Given the description of an element on the screen output the (x, y) to click on. 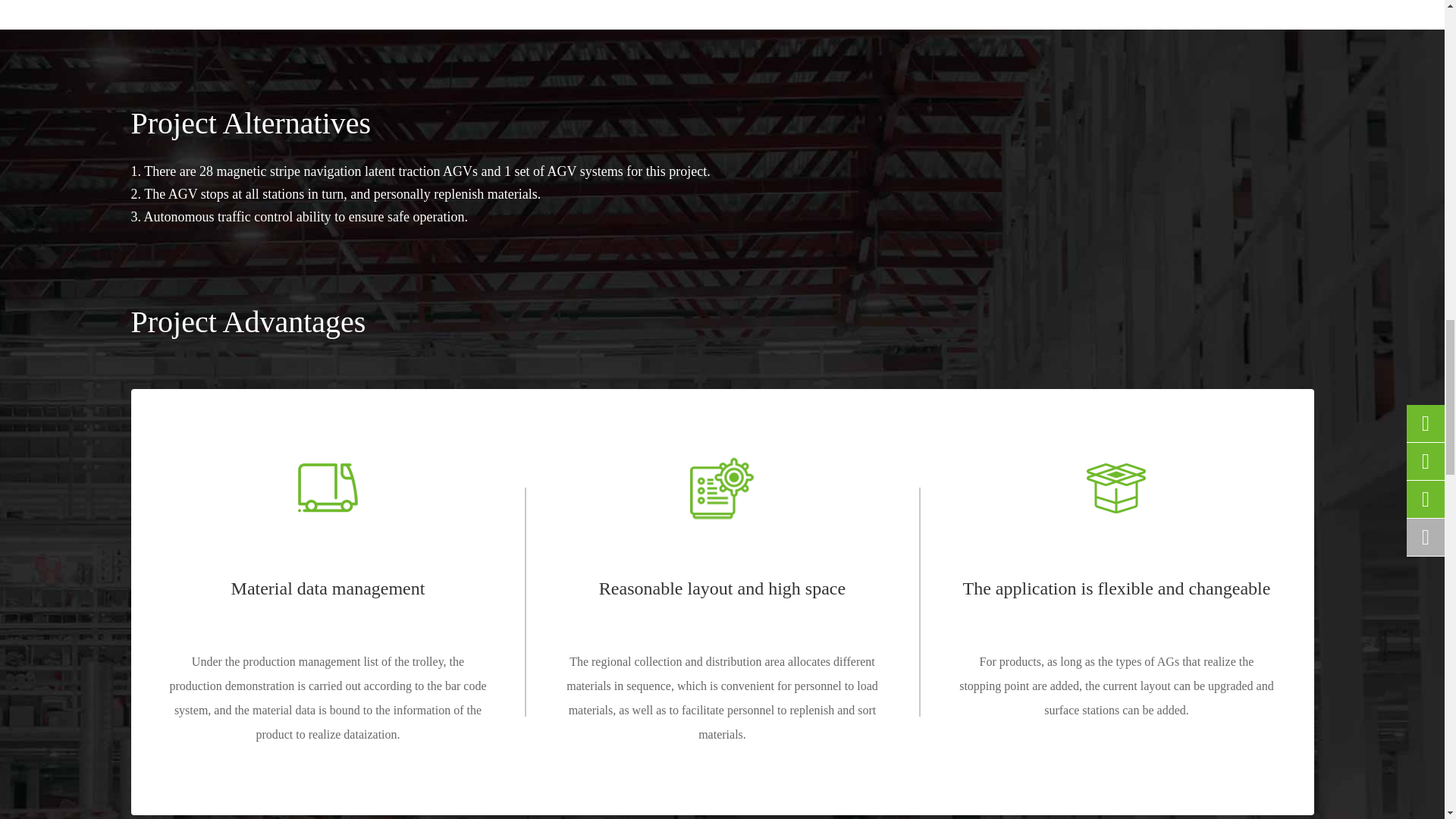
Material data management (328, 487)
The application is flexible and changeable (1115, 488)
Reasonable layout and high space (722, 488)
